Given the description of an element on the screen output the (x, y) to click on. 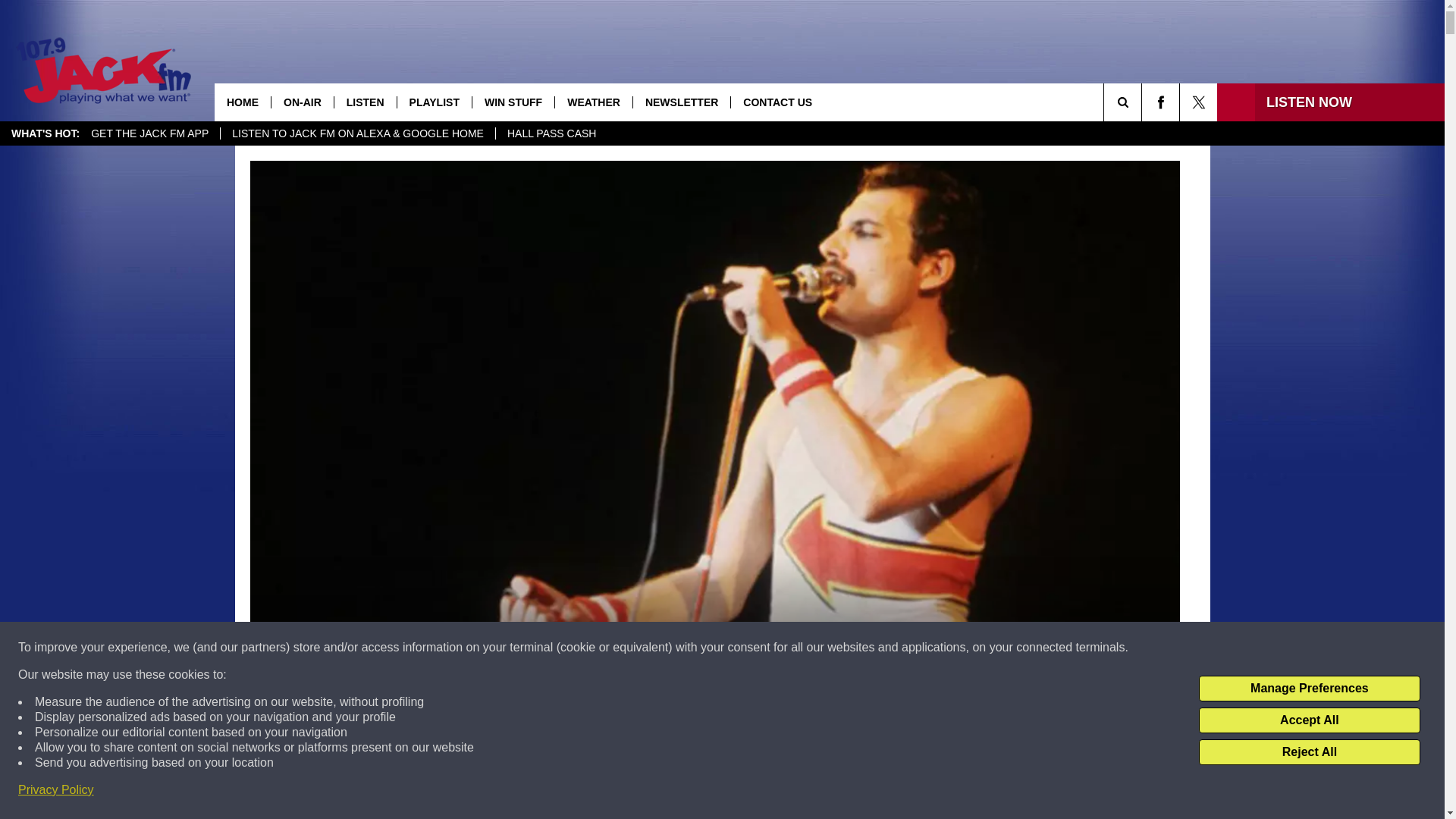
Reject All (1309, 751)
CONTACT US (777, 102)
HALL PASS CASH (551, 133)
GET THE JACK FM APP (149, 133)
Accept All (1309, 720)
LISTEN (364, 102)
SEARCH (1144, 102)
PLAYLIST (433, 102)
Manage Preferences (1309, 688)
Share on Twitter (912, 791)
Privacy Policy (55, 789)
SEARCH (1144, 102)
ON-AIR (301, 102)
NEWSLETTER (680, 102)
WIN STUFF (512, 102)
